Given the description of an element on the screen output the (x, y) to click on. 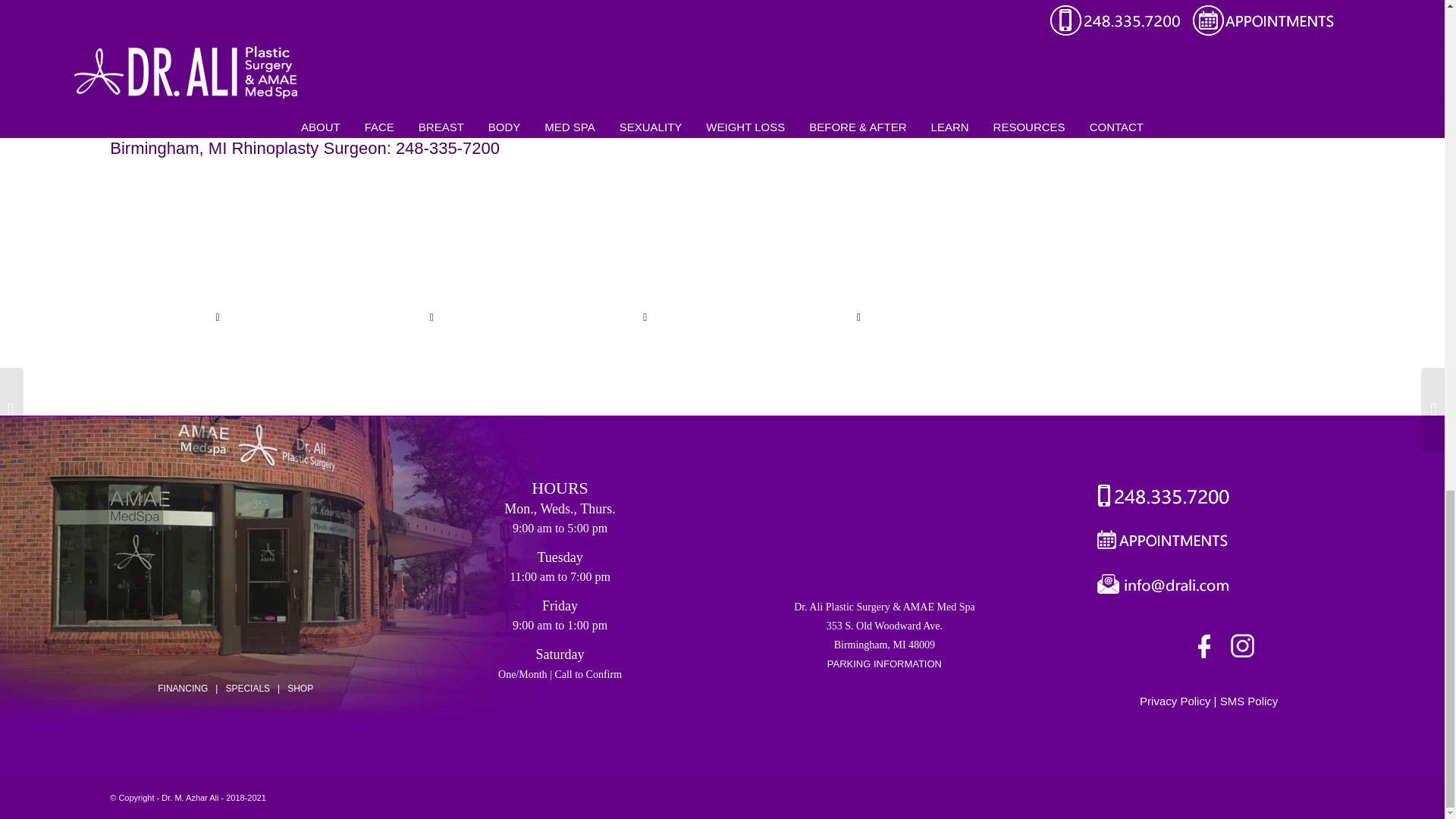
Facebook Link (1207, 648)
Email (1158, 587)
Call (1157, 498)
Call (1157, 542)
Google Map (883, 535)
